Given the description of an element on the screen output the (x, y) to click on. 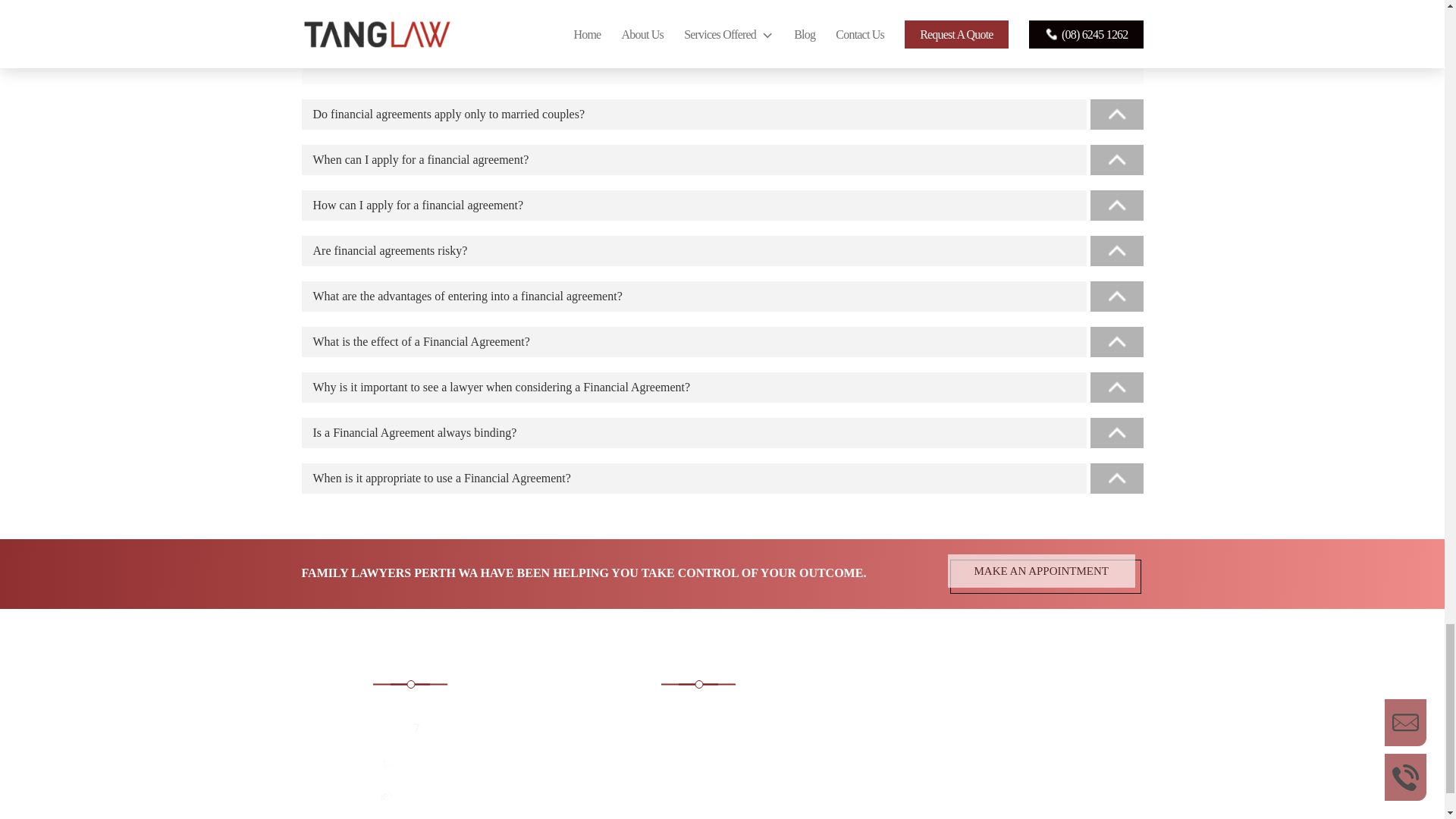
Is a Financial Agreement always binding? (721, 432)
How can I apply for a financial agreement? (721, 205)
Do financial agreements apply only to married couples? (721, 114)
What is the effect of a Financial Agreement? (721, 341)
Binding financial agreements (784, 39)
When can I apply for a financial agreement?  (721, 159)
Are financial agreements risky? (721, 250)
